Given the description of an element on the screen output the (x, y) to click on. 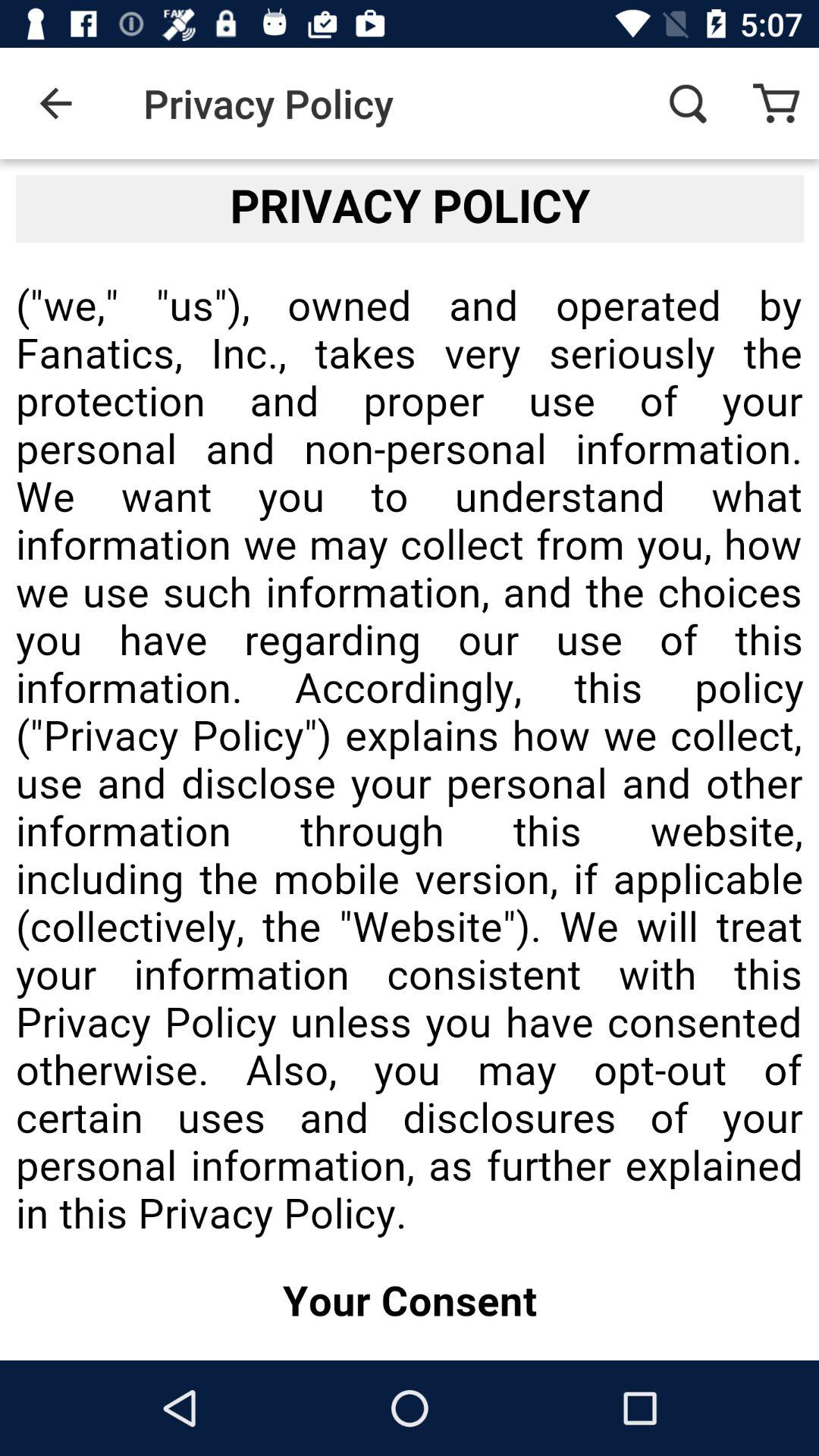
read consent (409, 759)
